Given the description of an element on the screen output the (x, y) to click on. 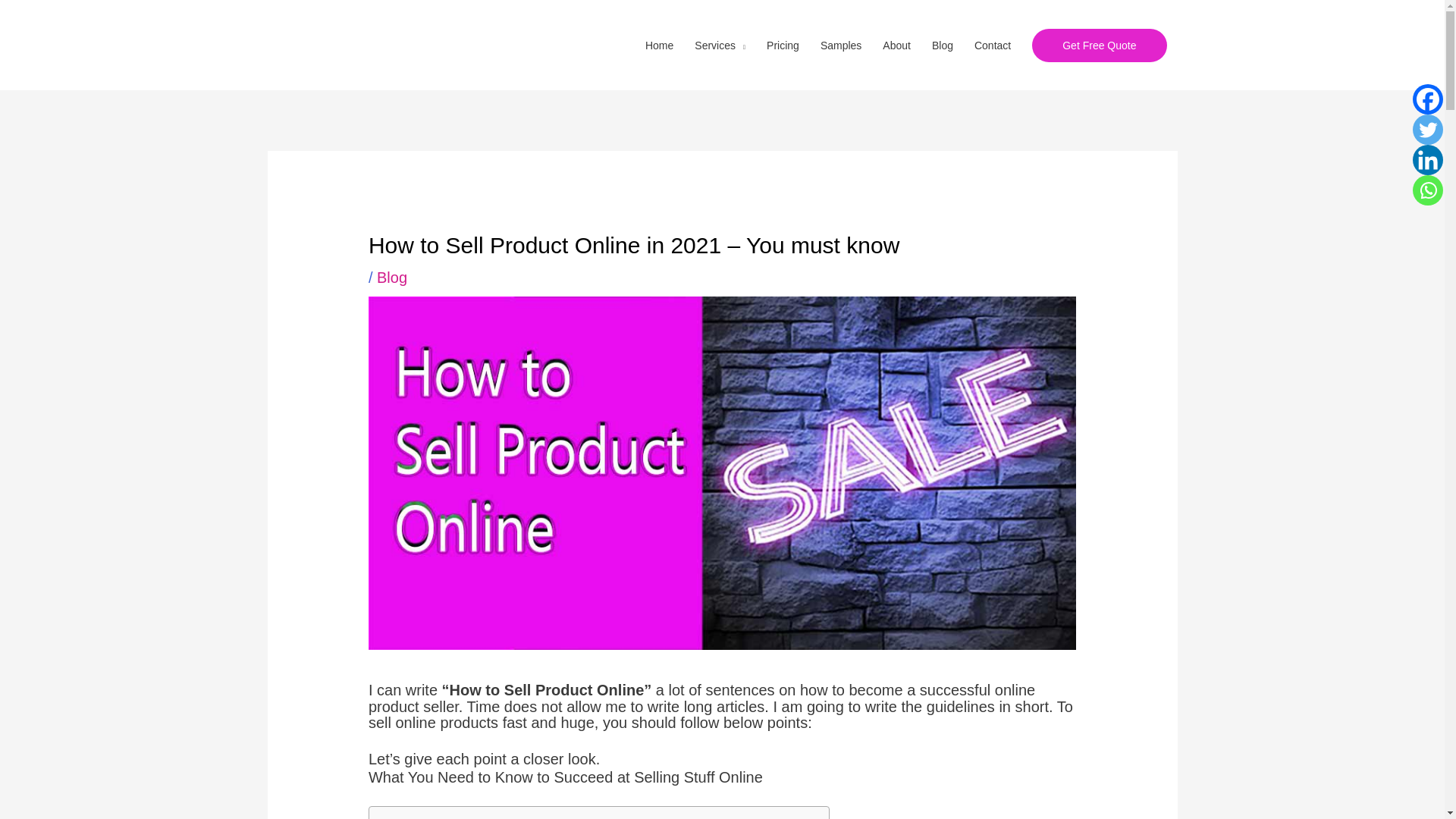
About (896, 45)
Get Free Quote (1099, 45)
Pricing (782, 45)
Samples (840, 45)
Blog (942, 45)
Contact (992, 45)
Services (719, 45)
Blog (392, 277)
Home (659, 45)
